Given the description of an element on the screen output the (x, y) to click on. 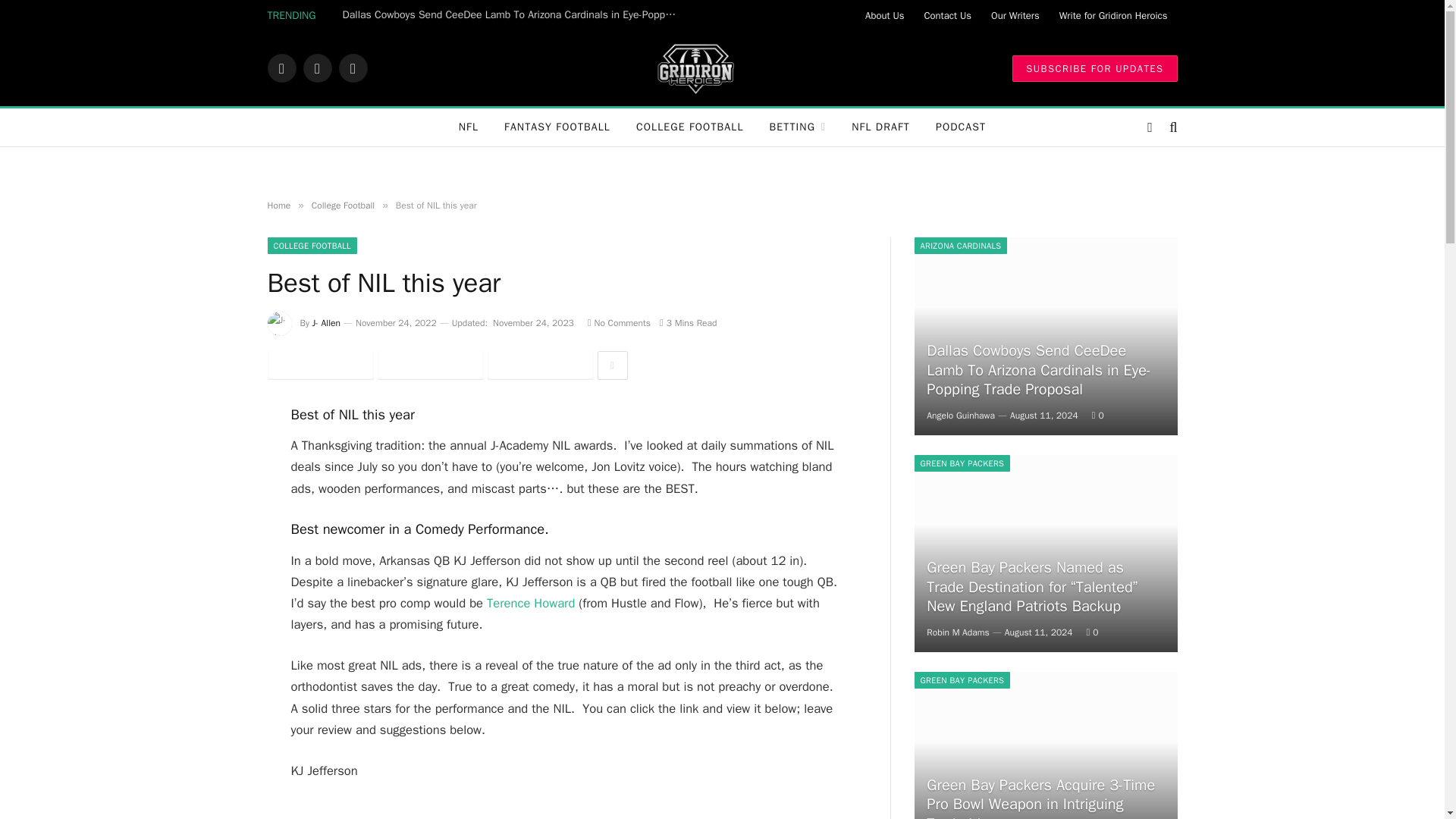
SUBSCRIBE FOR UPDATES (1093, 67)
Share on Facebook (319, 365)
Our Writers (1015, 15)
About Us (885, 15)
FANTASY FOOTBALL (557, 127)
Contact Us (947, 15)
Instagram (351, 68)
COLLEGE FOOTBALL (690, 127)
Twitter (316, 68)
Write for Gridiron Heroics (1113, 15)
